Given the description of an element on the screen output the (x, y) to click on. 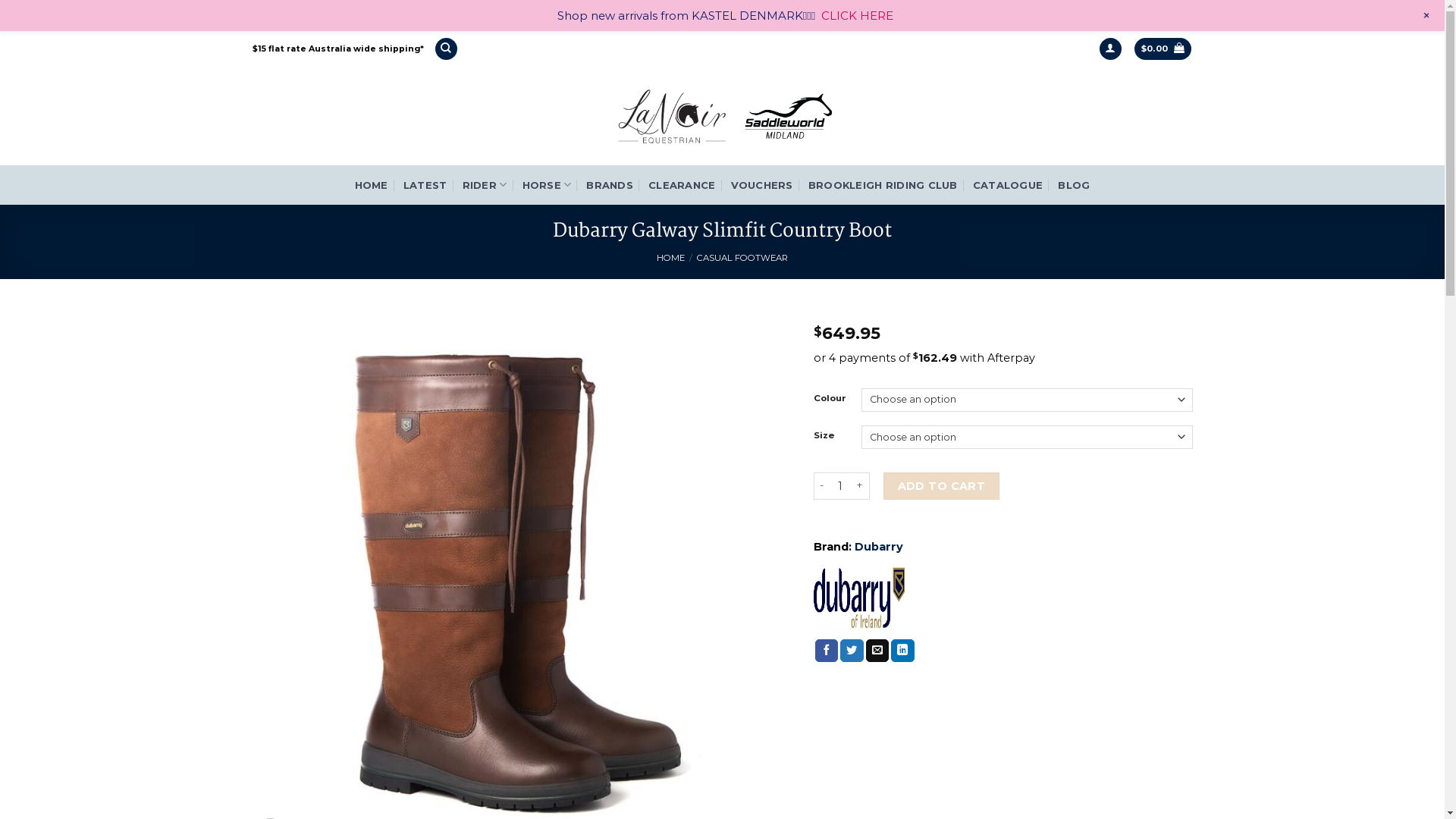
Skip to content Element type: text (0, 31)
BRANDS Element type: text (609, 184)
Email to a Friend Element type: hover (877, 650)
RIDER Element type: text (484, 184)
CLICK HERE Element type: text (857, 15)
Share on LinkedIn Element type: hover (902, 650)
+ Element type: text (1425, 15)
ADD TO CART Element type: text (940, 486)
HOME Element type: text (670, 257)
HORSE Element type: text (546, 184)
Share on Facebook Element type: hover (826, 650)
BROOKLEIGH RIDING CLUB Element type: text (882, 184)
Dubarry Element type: text (878, 546)
BLOG Element type: text (1073, 184)
CASUAL FOOTWEAR Element type: text (741, 257)
Share on Twitter Element type: hover (851, 650)
$0.00 Element type: text (1162, 48)
HOME Element type: text (371, 184)
VOUCHERS Element type: text (762, 184)
LATEST Element type: text (425, 184)
CLEARANCE Element type: text (681, 184)
CATALOGUE Element type: text (1007, 184)
